Given the description of an element on the screen output the (x, y) to click on. 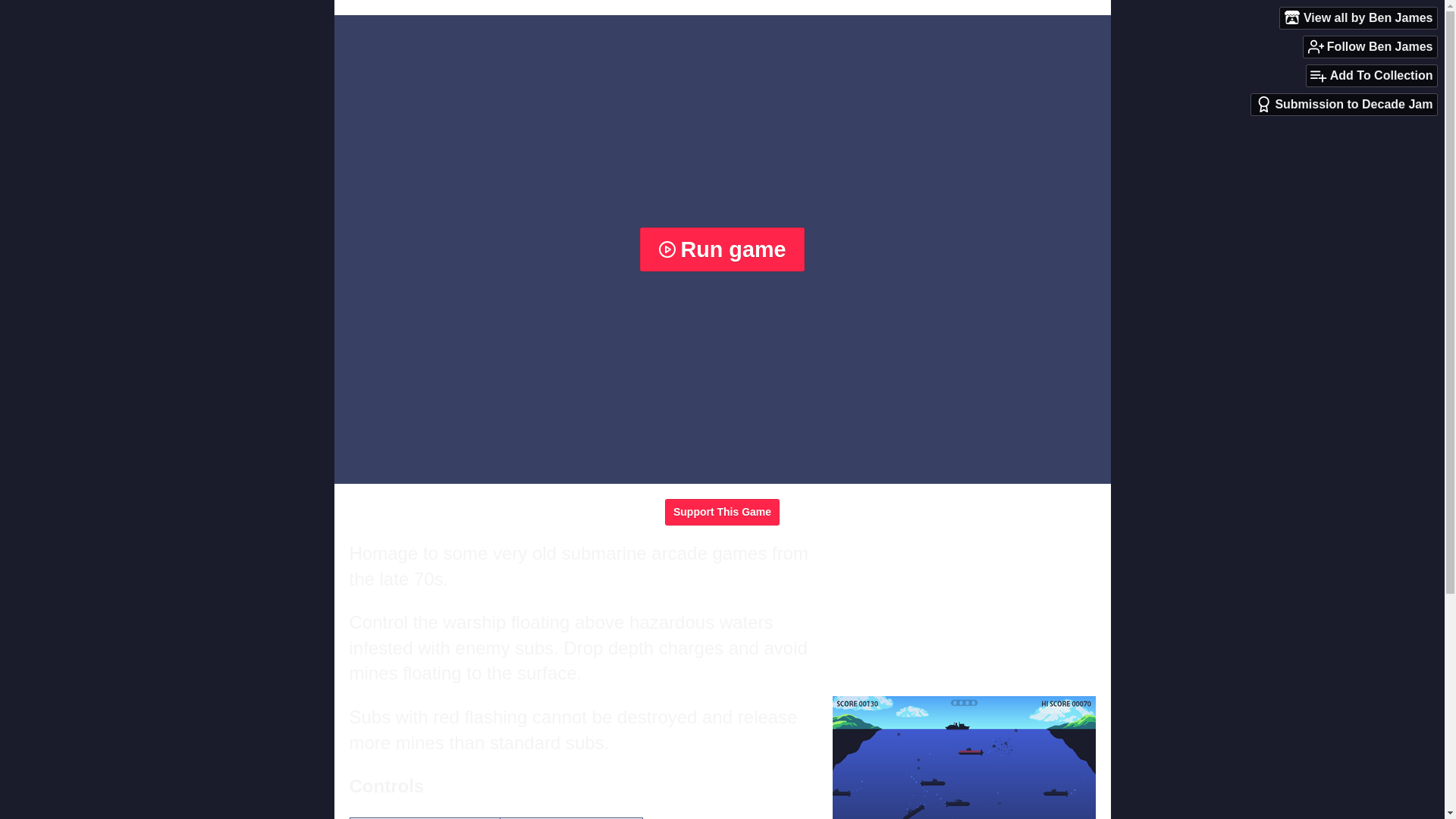
Submission to Decade Jam (1343, 104)
View all by Ben James (1358, 17)
Run game (721, 249)
Support This Game (721, 511)
Follow Ben James (1370, 46)
Add To Collection (1371, 75)
